Given the description of an element on the screen output the (x, y) to click on. 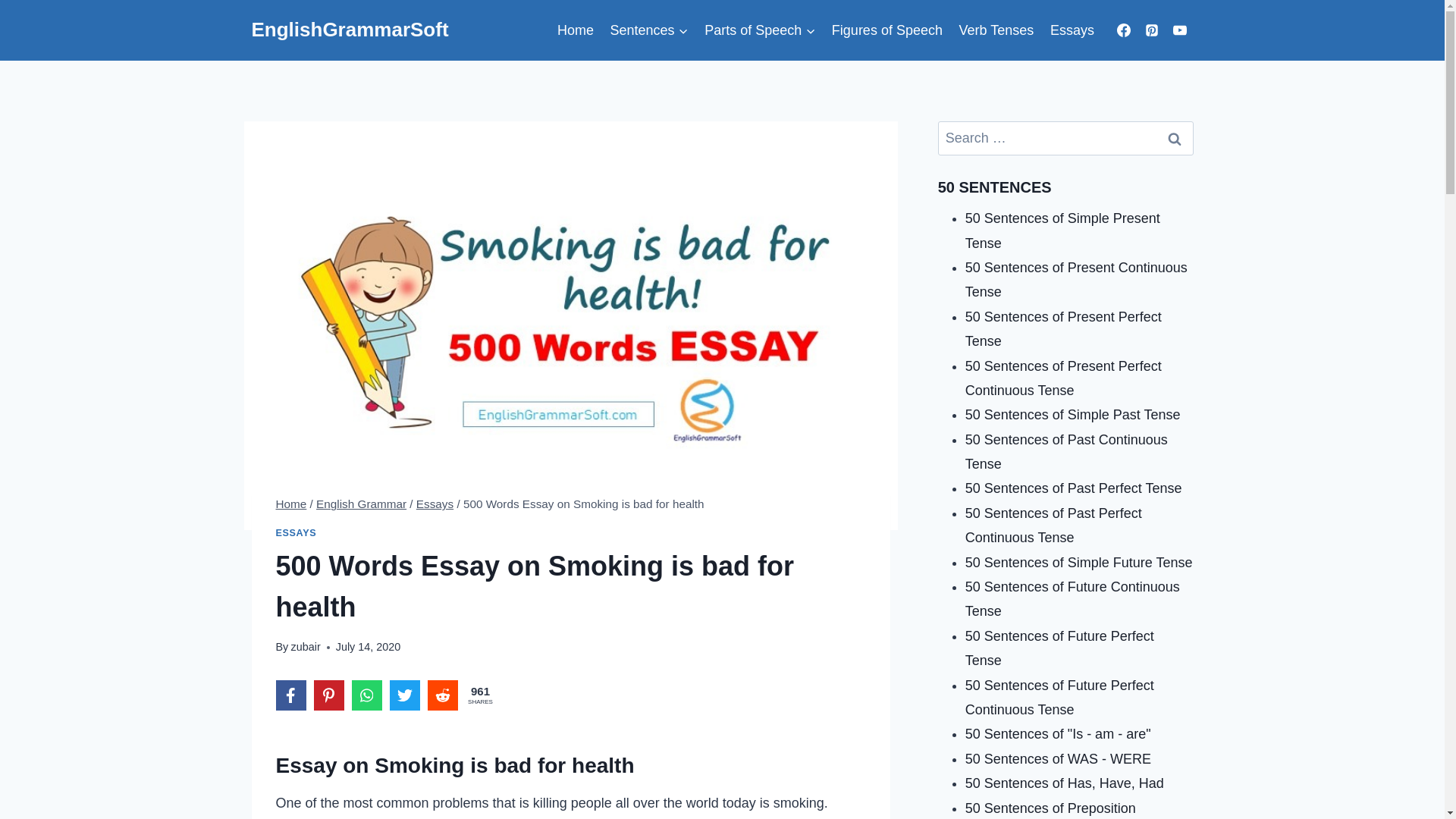
Essays (1072, 30)
ESSAYS (296, 532)
Parts of Speech (759, 30)
Sentences (649, 30)
Figures of Speech (887, 30)
Verb Tenses (996, 30)
Home (575, 30)
zubair (304, 646)
Home (291, 503)
Essays (434, 503)
English Grammar (360, 503)
EnglishGrammarSoft (349, 29)
Search (1174, 138)
Search (1174, 138)
